Given the description of an element on the screen output the (x, y) to click on. 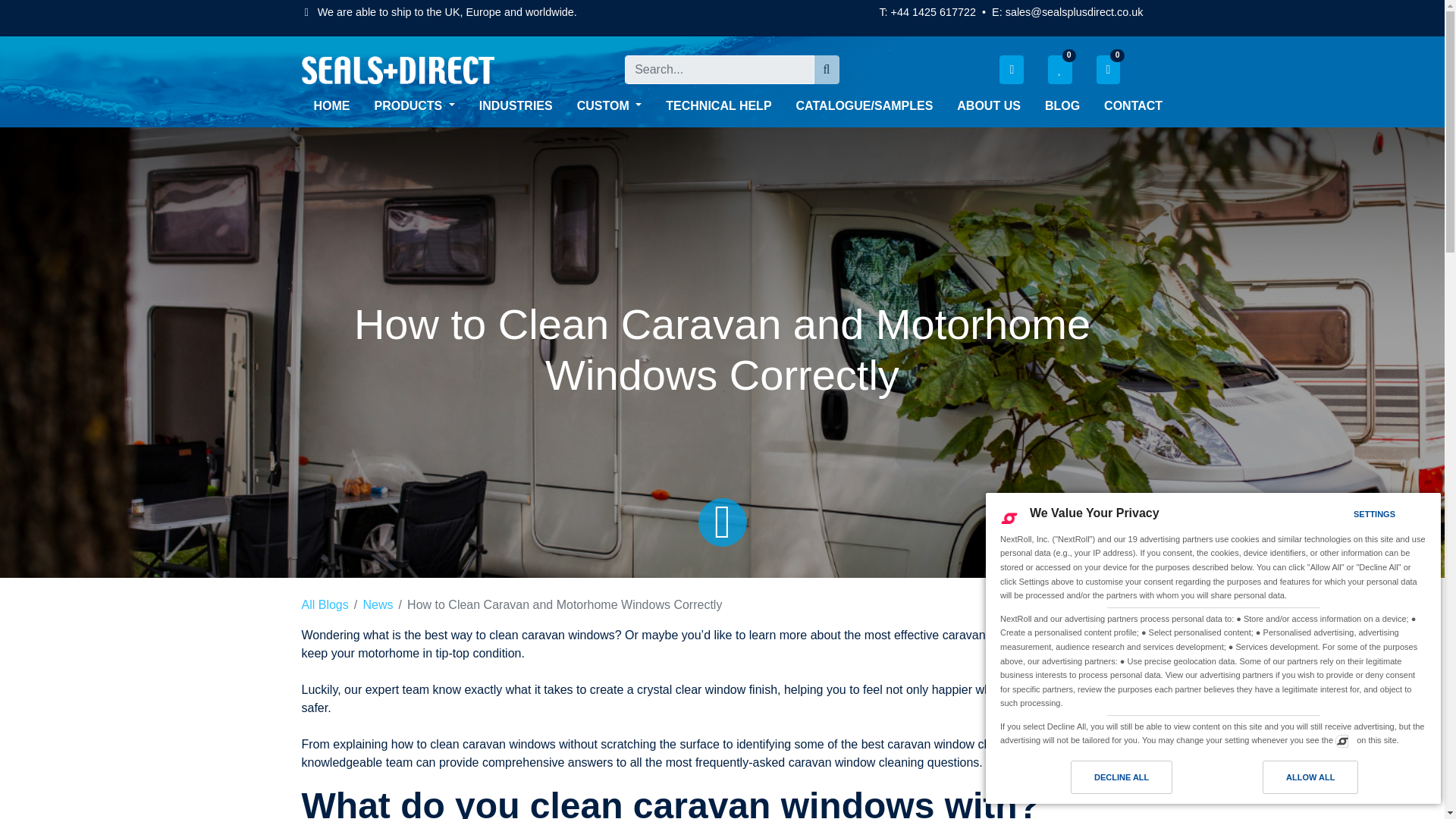
INDUSTRIES (515, 105)
ABOUT US (988, 105)
CUSTOM (608, 105)
HOME (331, 105)
BLOG (1062, 105)
News (377, 604)
Search (826, 68)
PRODUCTS (414, 105)
Manage consent preferences (1342, 740)
CONTACT (1133, 105)
